Given the description of an element on the screen output the (x, y) to click on. 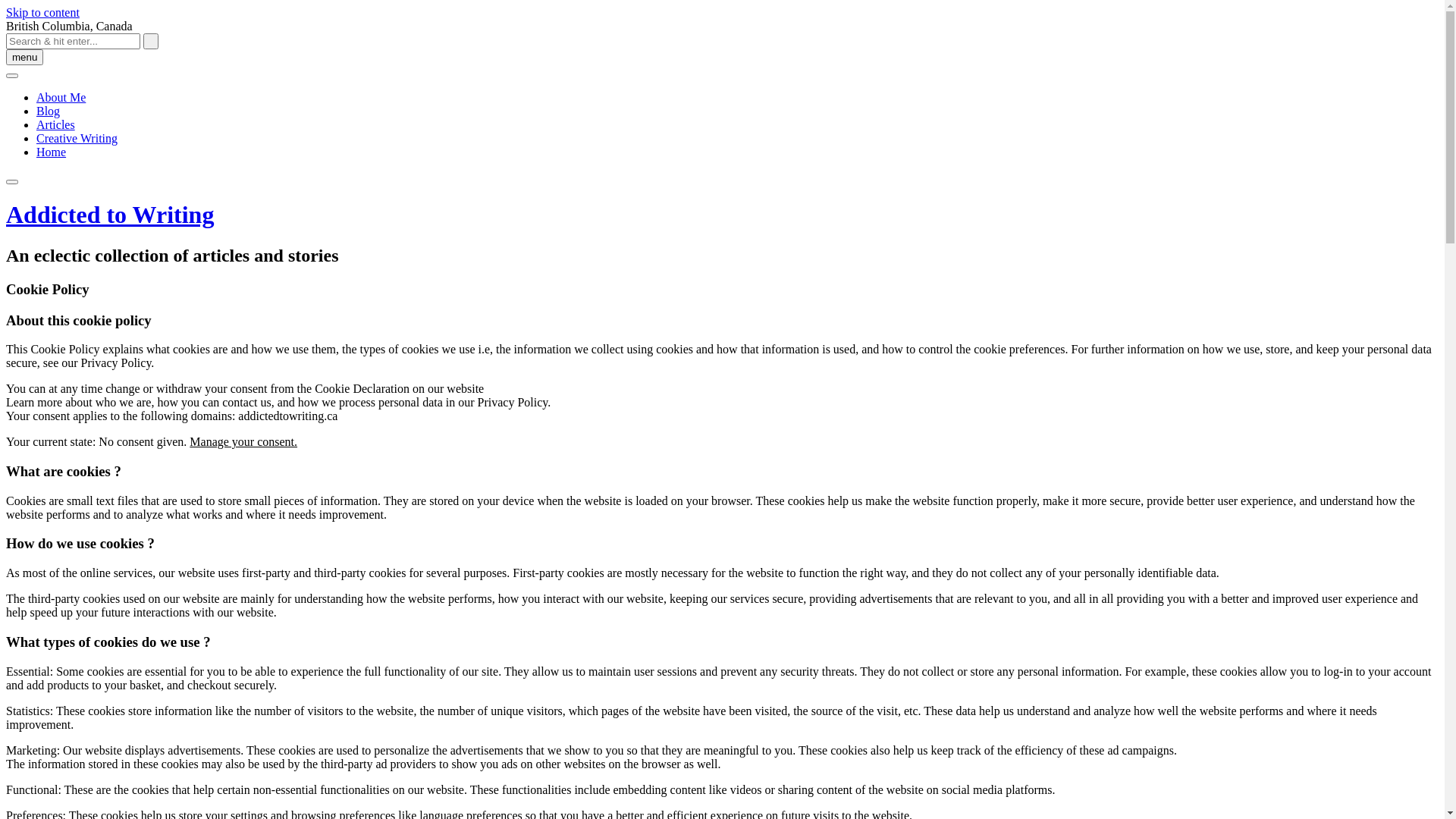
Home Element type: text (50, 151)
Skip to content Element type: text (42, 12)
Creative Writing Element type: text (76, 137)
Addicted to Writing Element type: text (109, 214)
Articles Element type: text (55, 124)
Blog Element type: text (47, 110)
About Me Element type: text (60, 97)
Manage your consent. Element type: text (243, 441)
menu Element type: text (24, 57)
